Given the description of an element on the screen output the (x, y) to click on. 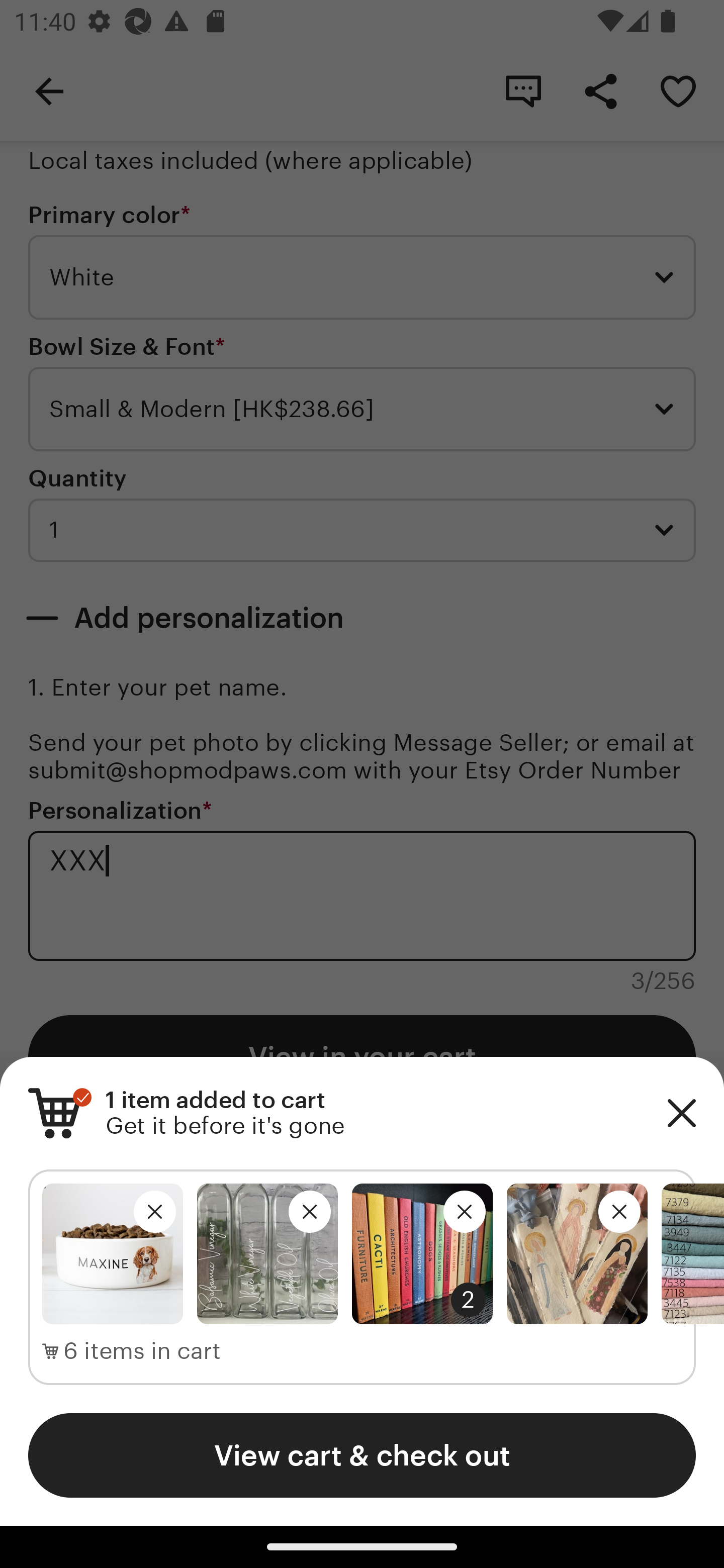
6 items in cart (131, 1351)
View cart & check out (361, 1454)
